Given the description of an element on the screen output the (x, y) to click on. 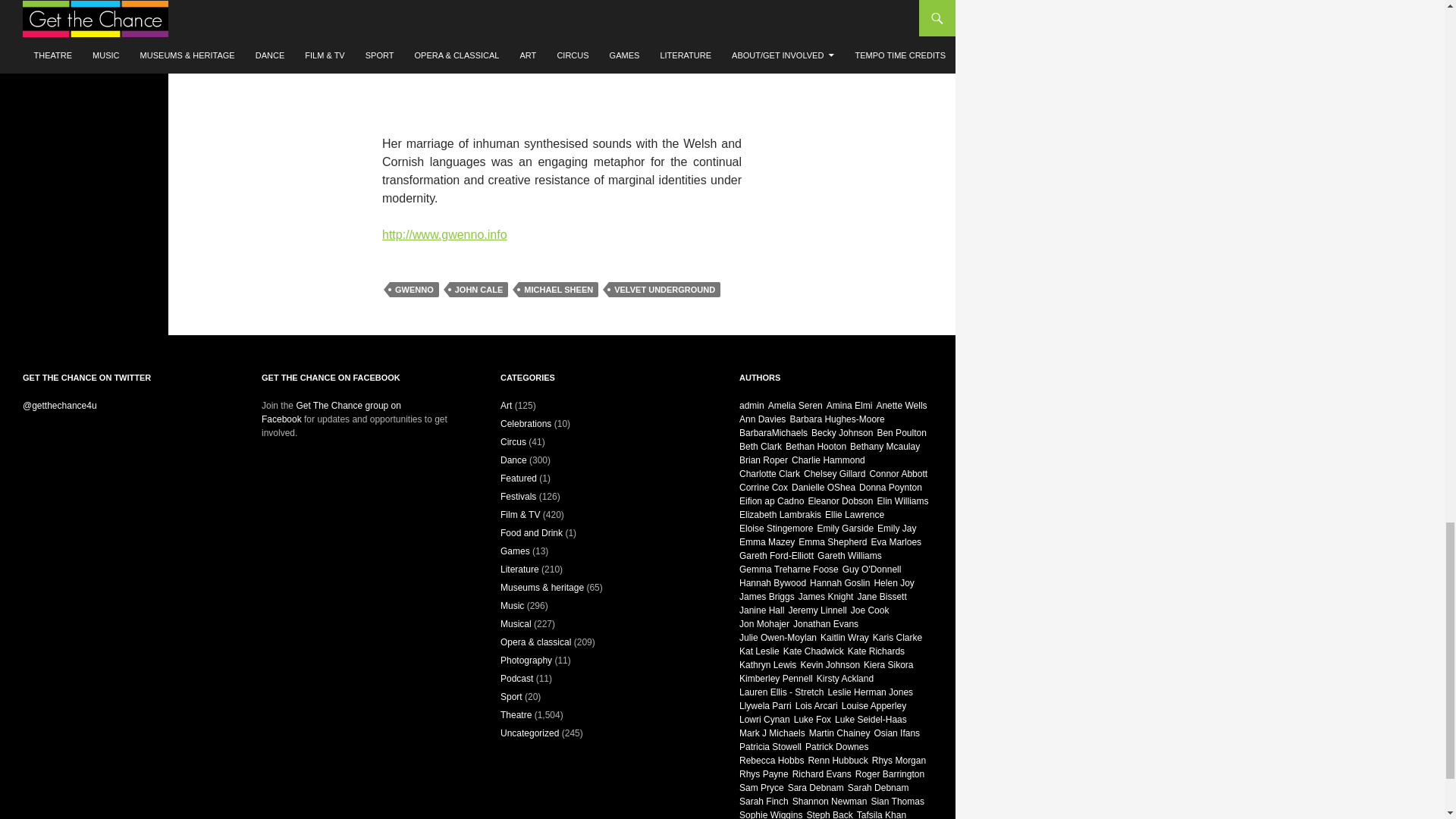
Posts by Bethan Hooton (815, 446)
GWENNO (414, 289)
Posts by admin (751, 405)
Posts by Bethany Mcaulay (885, 446)
Posts by Brian Roper (763, 460)
Posts by Ann Davies (762, 419)
Posts by Becky Johnson (841, 432)
Posts by Charlie Hammond (828, 460)
Posts by Ben Poulton (901, 432)
Chwyldro - GWENNO (561, 55)
Posts by Beth Clark (760, 446)
VELVET UNDERGROUND (664, 289)
Posts by BarbaraMichaels (773, 432)
JOHN CALE (478, 289)
Posts by Amina Elmi (849, 405)
